Given the description of an element on the screen output the (x, y) to click on. 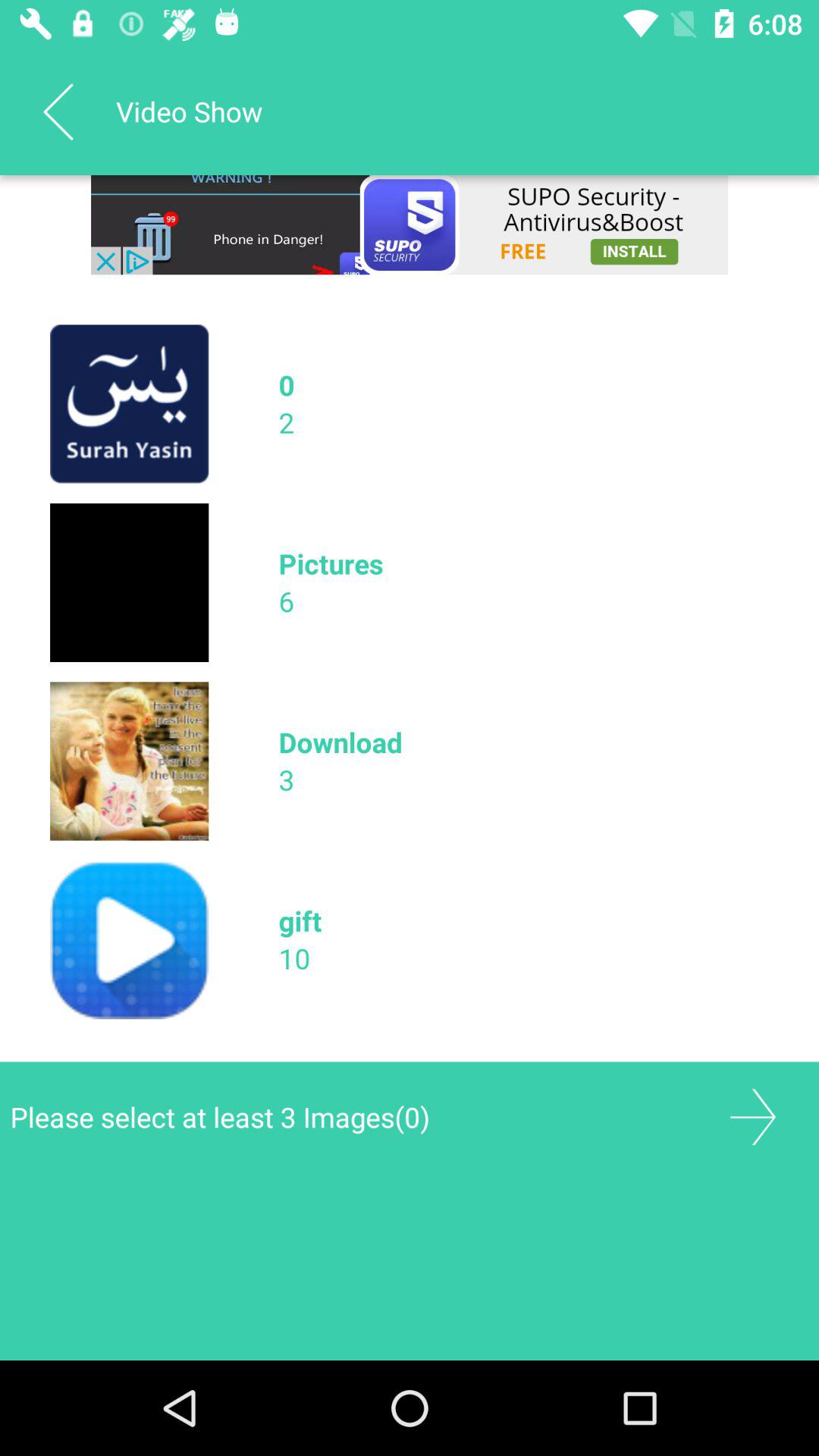
go to back patturn (57, 111)
